Given the description of an element on the screen output the (x, y) to click on. 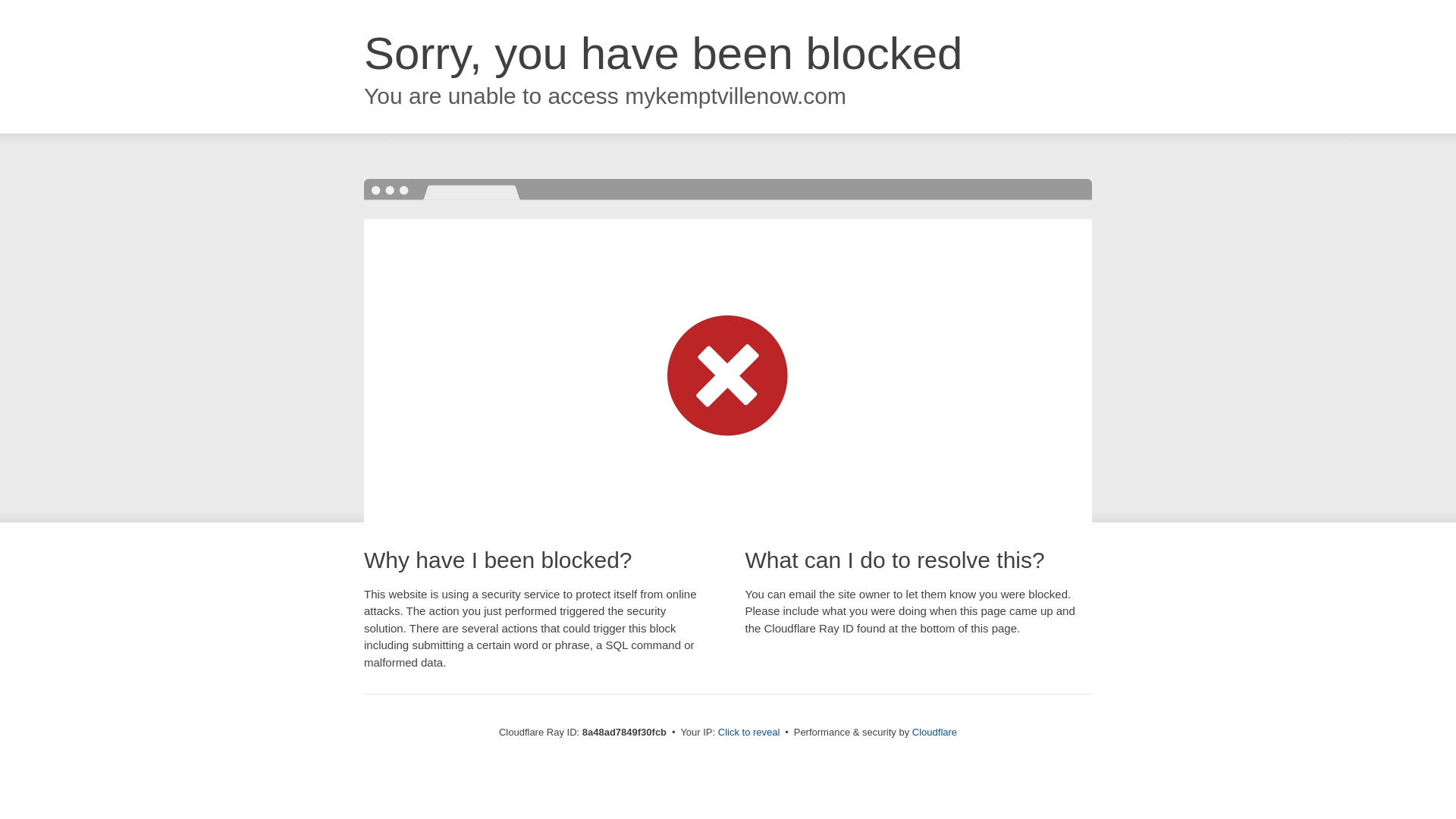
Click to reveal (748, 732)
Cloudflare (934, 731)
